Given the description of an element on the screen output the (x, y) to click on. 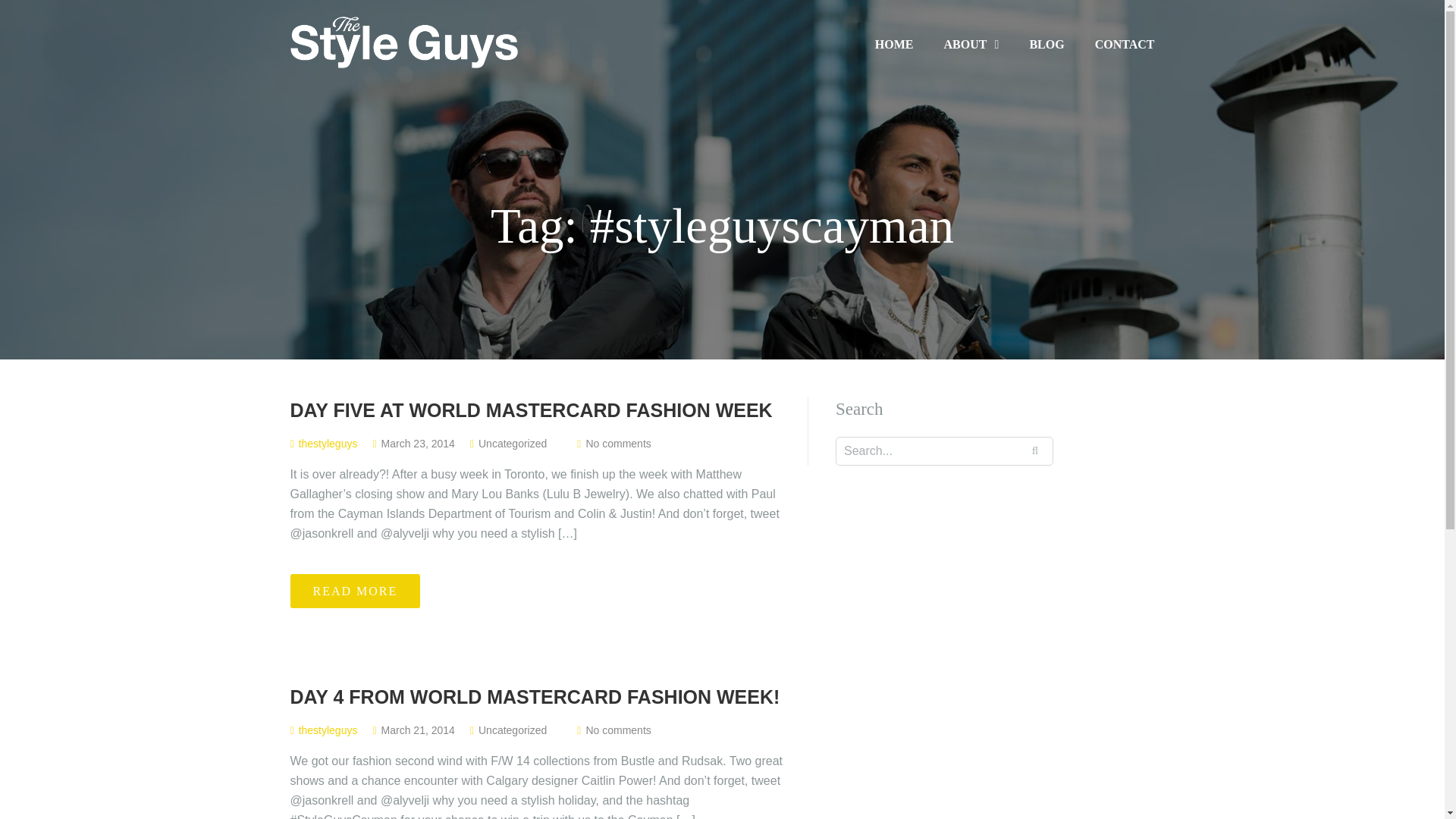
READ MORE (354, 591)
DAY 4 FROM WORLD MASTERCARD FASHION WEEK! (536, 696)
Read more (354, 591)
HOME (894, 43)
DAY FIVE AT WORLD MASTERCARD FASHION WEEK (536, 410)
BLOG (1046, 43)
Uncategorized (513, 729)
ABOUT (970, 44)
DAY 4 from World MasterCard Fashion Week! (536, 696)
Uncategorized (513, 443)
